Given the description of an element on the screen output the (x, y) to click on. 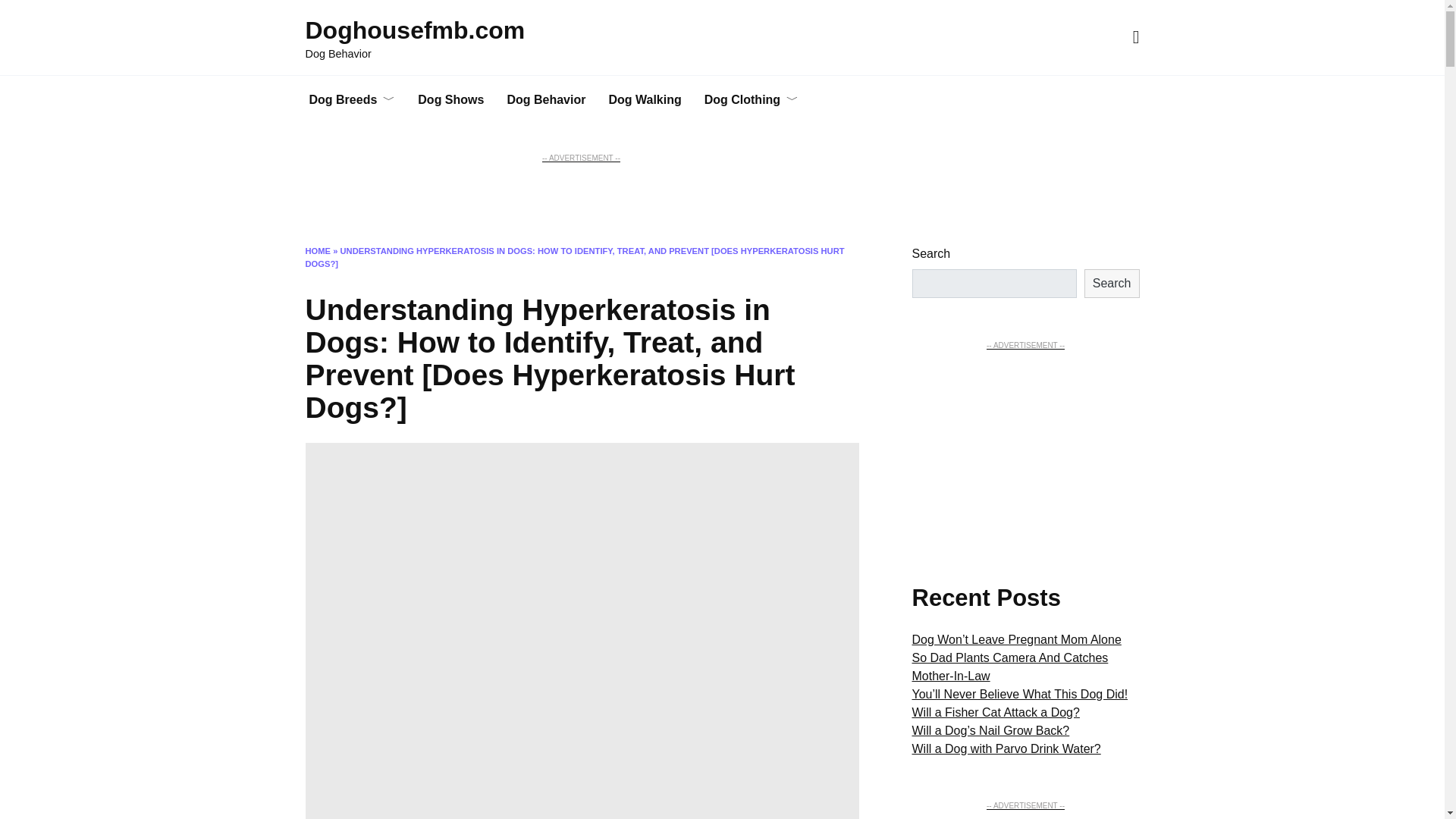
Advertisement (580, 199)
Dog Shows (450, 100)
Dog Clothing (751, 100)
Dog Behavior (545, 100)
HOME (317, 250)
Dog Walking (644, 100)
Dog Breeds (351, 100)
Doghousefmb.com (414, 30)
Advertisement (1024, 447)
Advertisement (1024, 816)
